Given the description of an element on the screen output the (x, y) to click on. 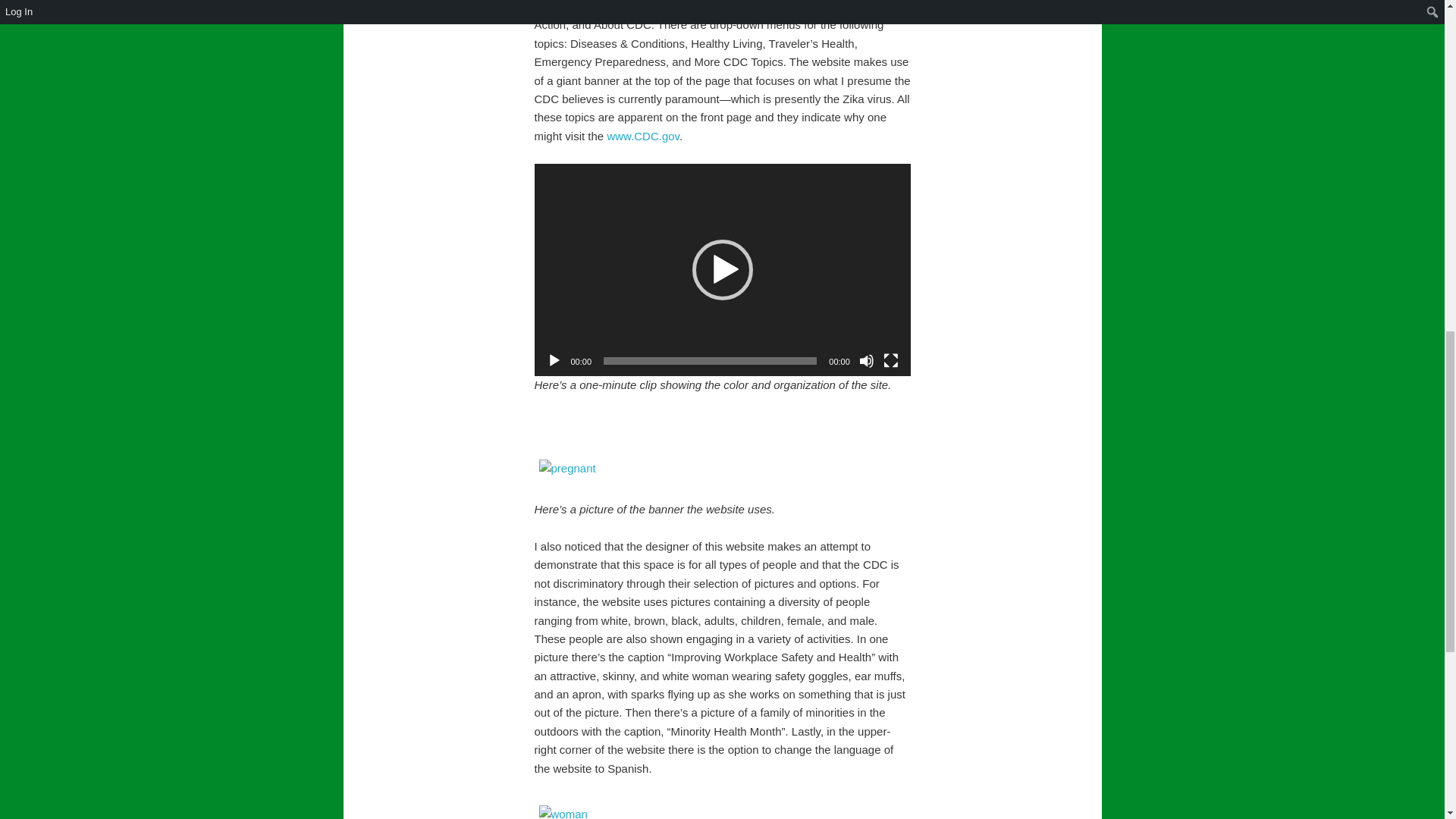
Fullscreen (890, 360)
Play (553, 360)
Mute (867, 360)
www.CDC.gov (643, 135)
